Given the description of an element on the screen output the (x, y) to click on. 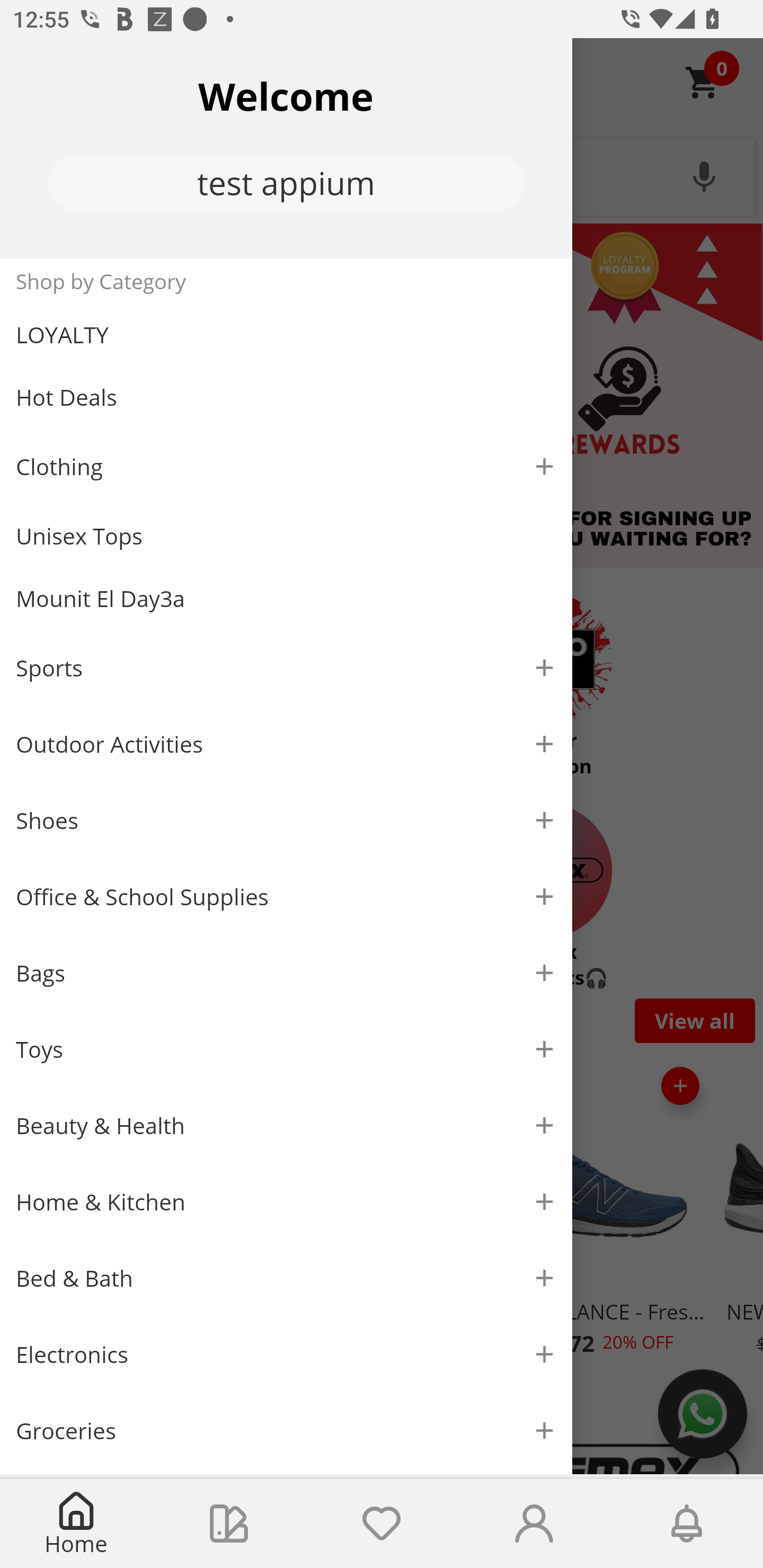
Welcome test appium (286, 147)
LOYALTY (286, 334)
Hot Deals (286, 396)
Clothing (286, 466)
Unisex Tops (286, 535)
Mounit El Day3a (286, 598)
Sports (286, 667)
Outdoor Activities (286, 743)
Shoes (286, 820)
Office & School Supplies (286, 896)
Bags (286, 972)
Toys (286, 1049)
Beauty & Health (286, 1125)
Home & Kitchen (286, 1201)
Bed & Bath (286, 1278)
Electronics (286, 1354)
Groceries (286, 1430)
Collections (228, 1523)
Wishlist (381, 1523)
My Account (533, 1523)
Notifications (686, 1523)
